Given the description of an element on the screen output the (x, y) to click on. 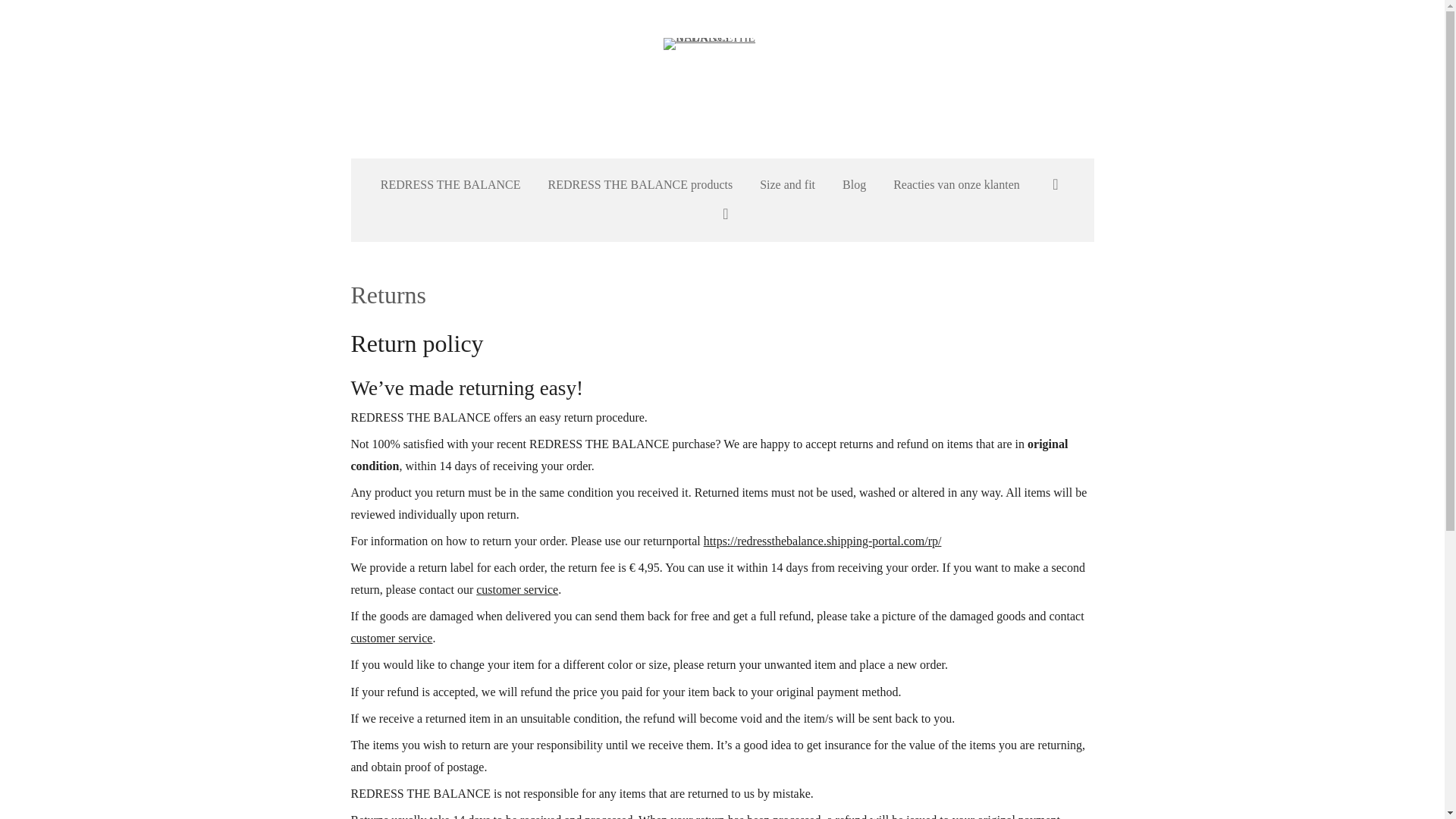
customer service (391, 637)
customer service (516, 589)
Blog (854, 184)
Account (1055, 184)
REDRESS THE BALANCE (721, 78)
Size and fit (787, 184)
Reacties van onze klanten (956, 184)
REDRESS THE BALANCE products (639, 184)
REDRESS THE BALANCE (451, 184)
Cart (721, 214)
